Given the description of an element on the screen output the (x, y) to click on. 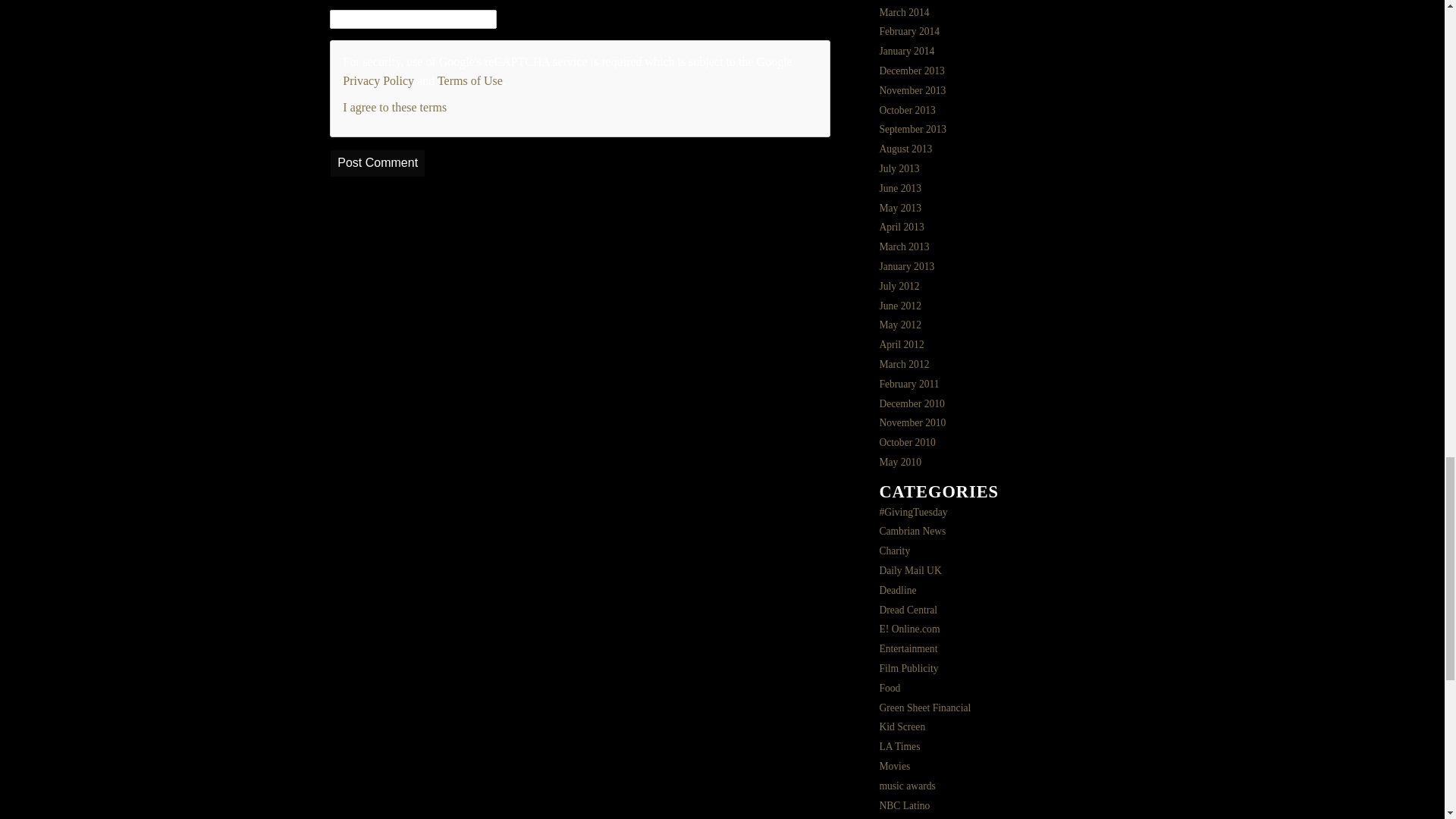
Privacy Policy (377, 80)
Terms of Use (470, 80)
I agree to these terms (394, 106)
Post Comment (377, 163)
Post Comment (377, 163)
